Given the description of an element on the screen output the (x, y) to click on. 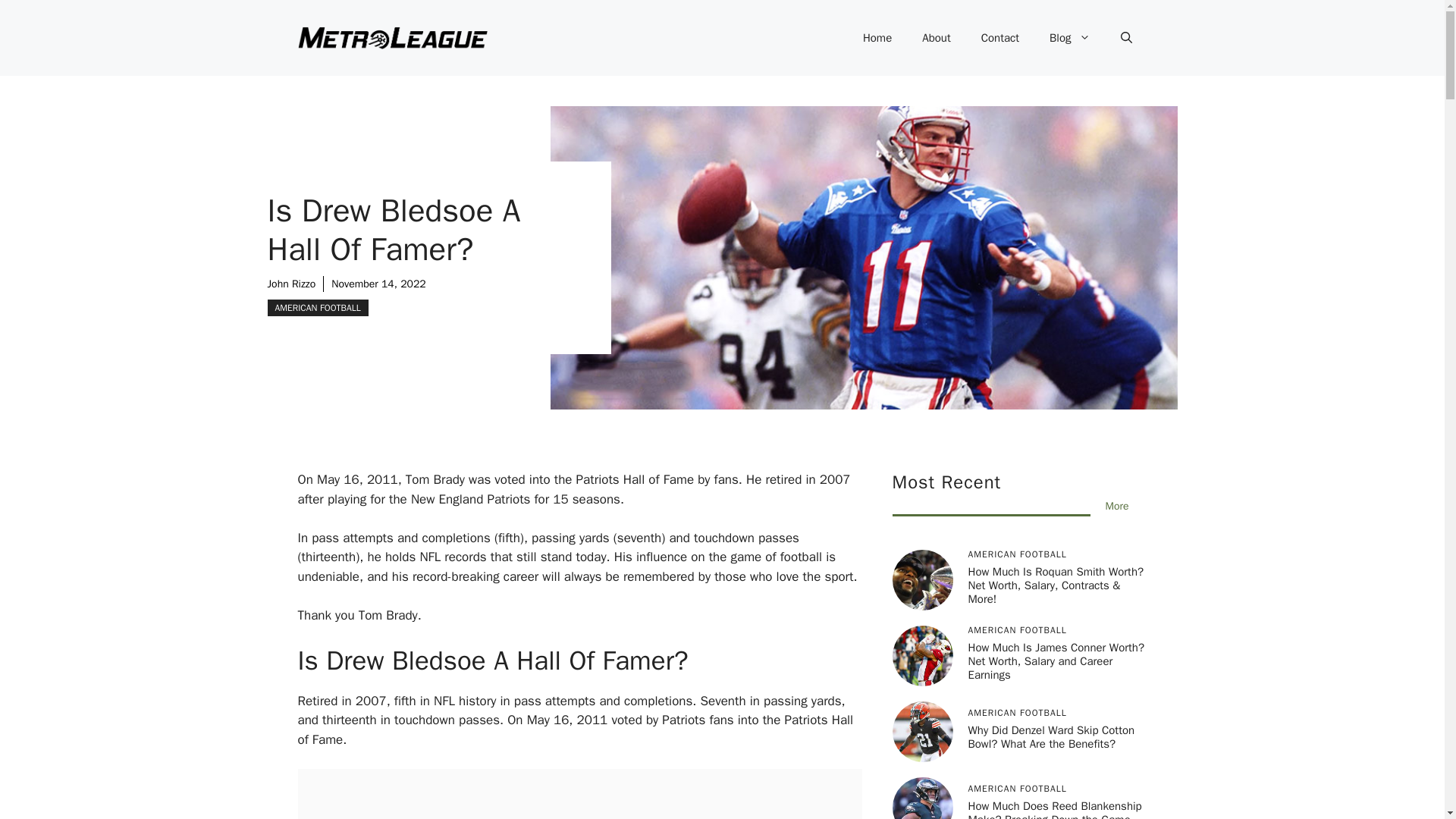
AMERICAN FOOTBALL (317, 307)
John Rizzo (290, 283)
More (1117, 505)
Blog (1069, 37)
Contact (999, 37)
Home (877, 37)
About (936, 37)
